Given the description of an element on the screen output the (x, y) to click on. 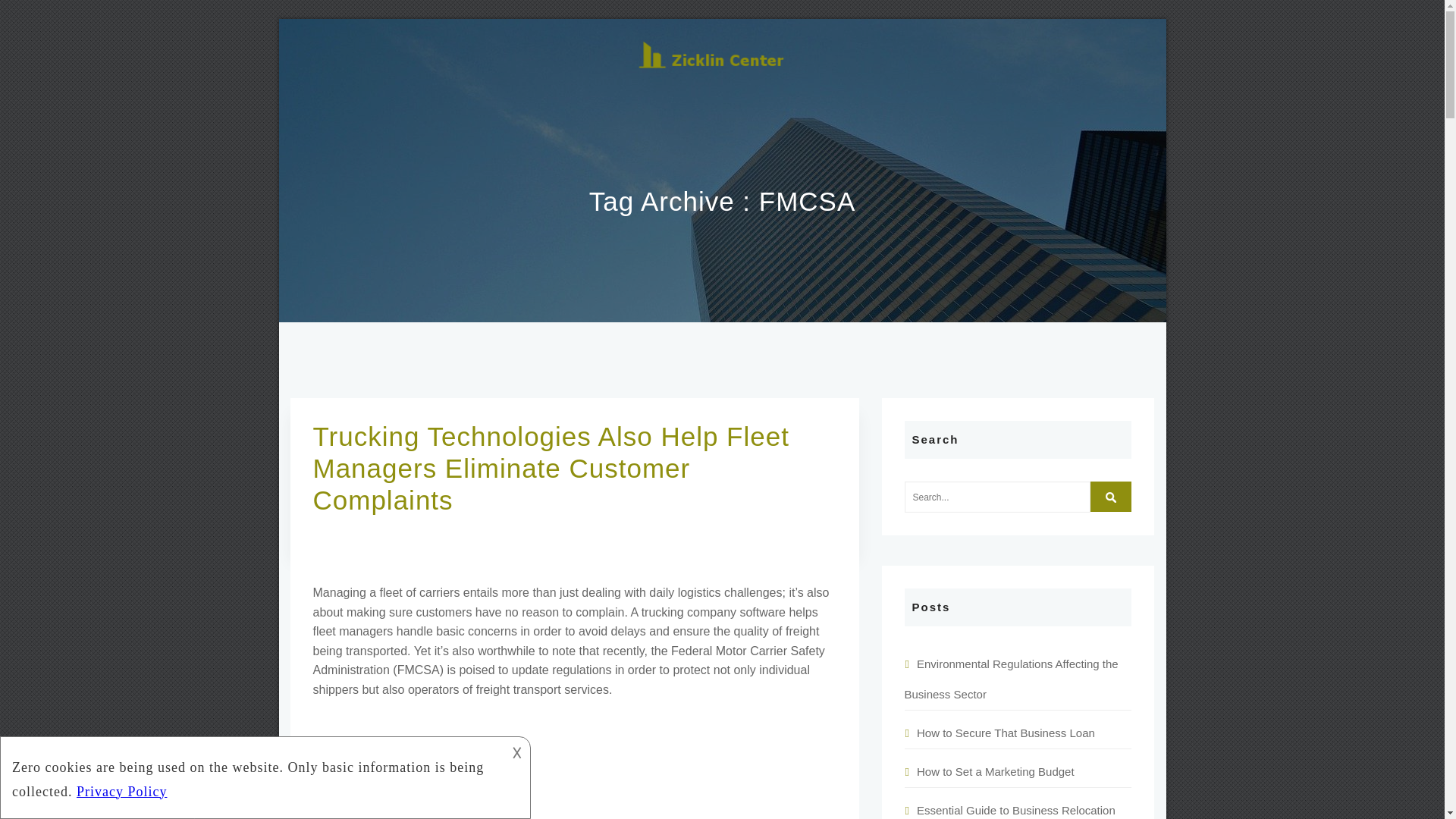
description (252, 775)
Fleet Management Software and Fleet Management Systems (574, 765)
